Given the description of an element on the screen output the (x, y) to click on. 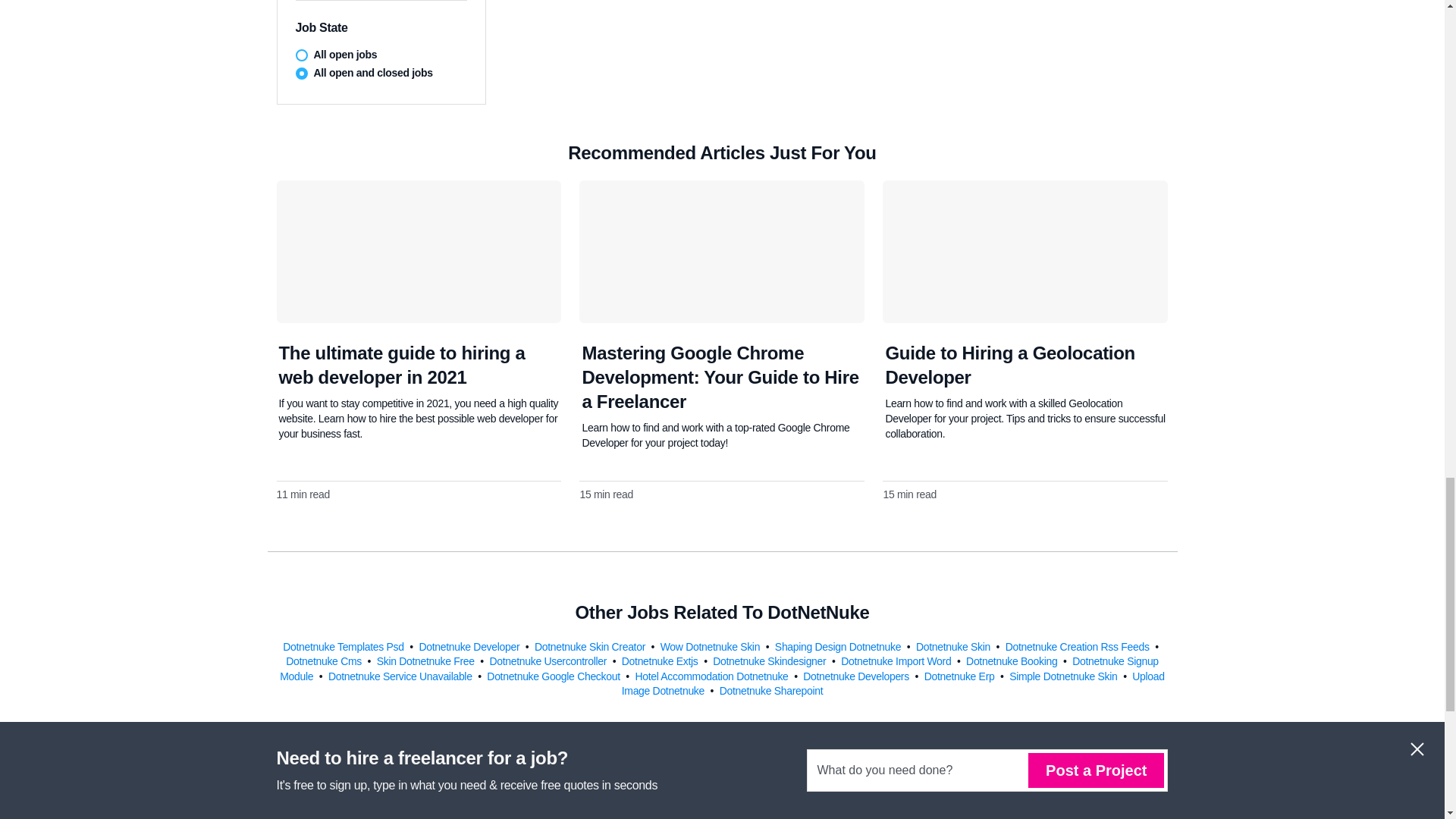
The ultimate guide to hiring a web developer in 2021 (402, 365)
Dotnetnuke Developer (470, 645)
Dotnetnuke Templates Psd (344, 645)
Guide to Hiring a Geolocation Developer (1009, 365)
